Given the description of an element on the screen output the (x, y) to click on. 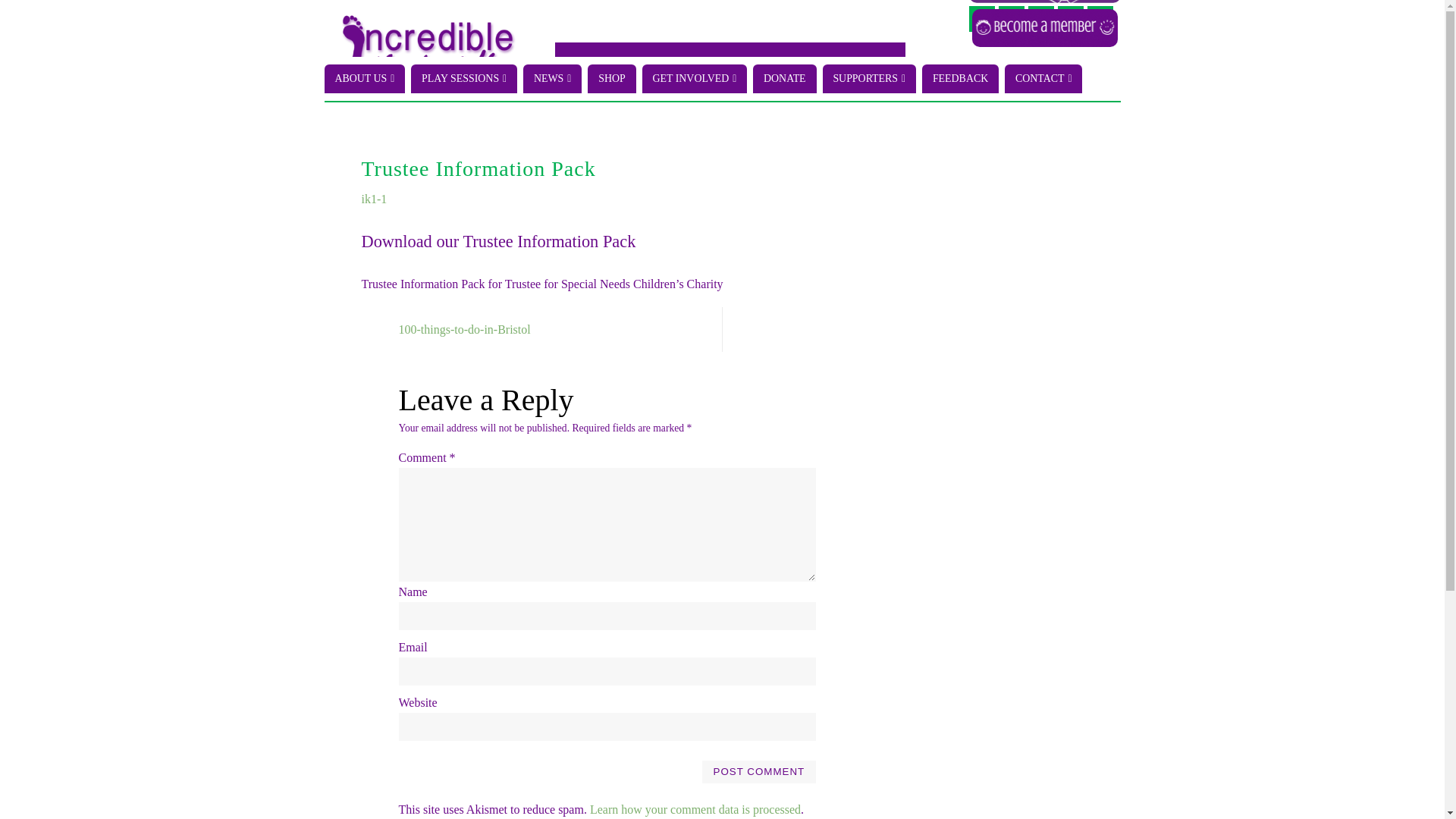
Instagram (1100, 18)
CONTACT (1042, 78)
ik1-1 (374, 198)
Post Comment (758, 771)
NEWS (551, 78)
100-things-to-do-in-Bristol (542, 329)
SUPPORTERS (868, 78)
SHOP (611, 78)
ABOUT US (365, 78)
PLAY SESSIONS (463, 78)
